Given the description of an element on the screen output the (x, y) to click on. 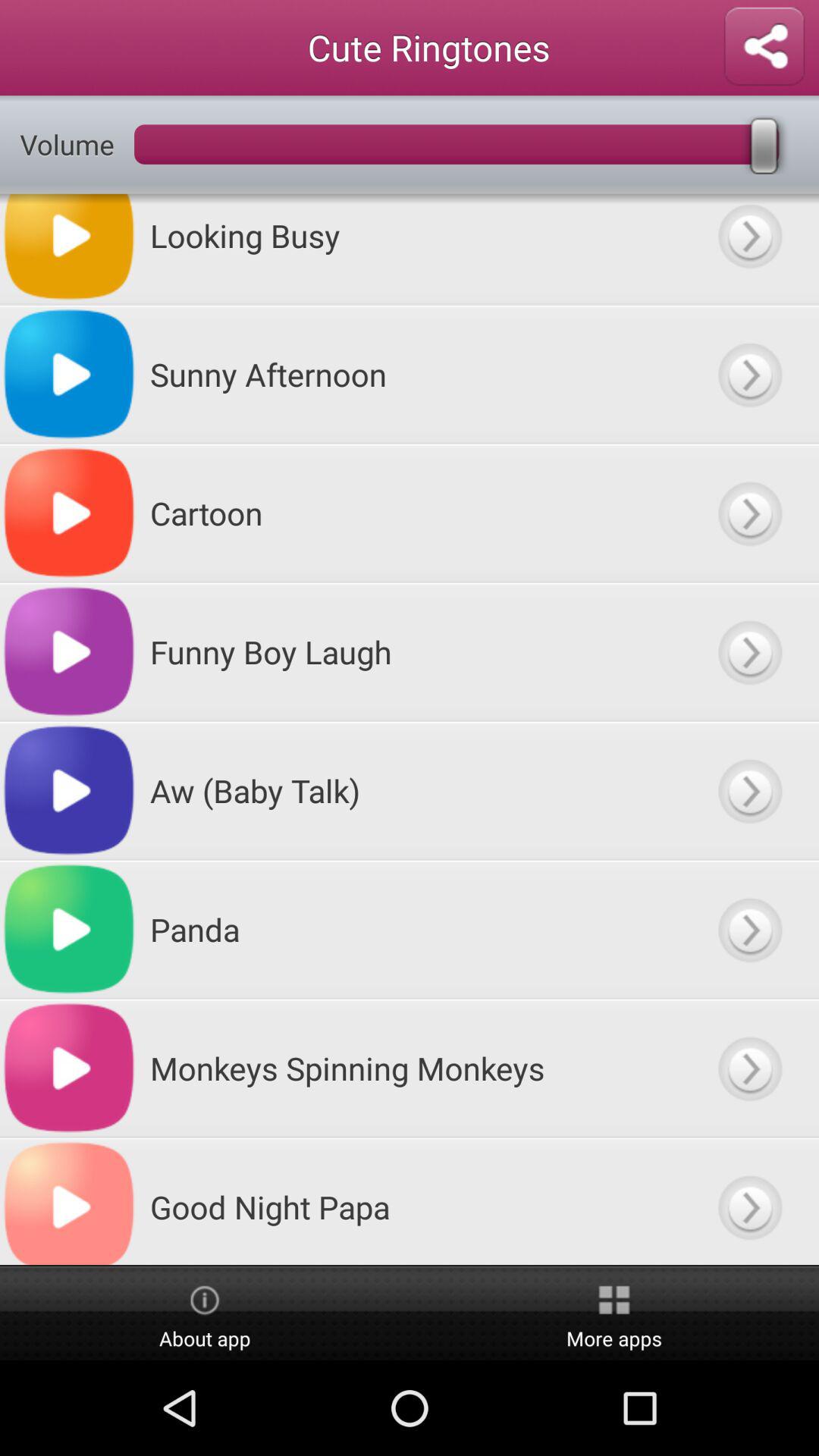
play funny boy laugh (749, 651)
